Given the description of an element on the screen output the (x, y) to click on. 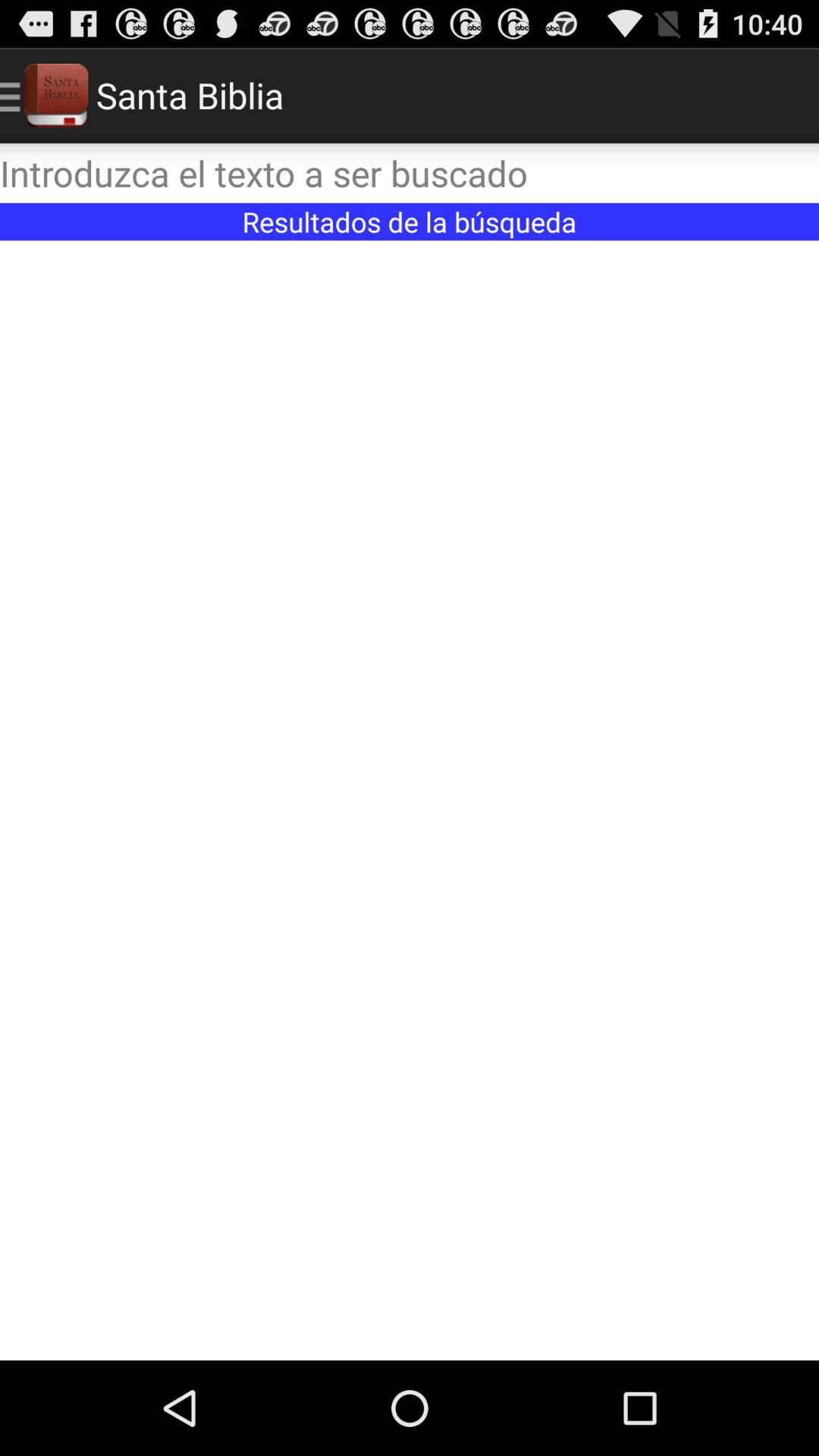
toggle search (409, 173)
